Given the description of an element on the screen output the (x, y) to click on. 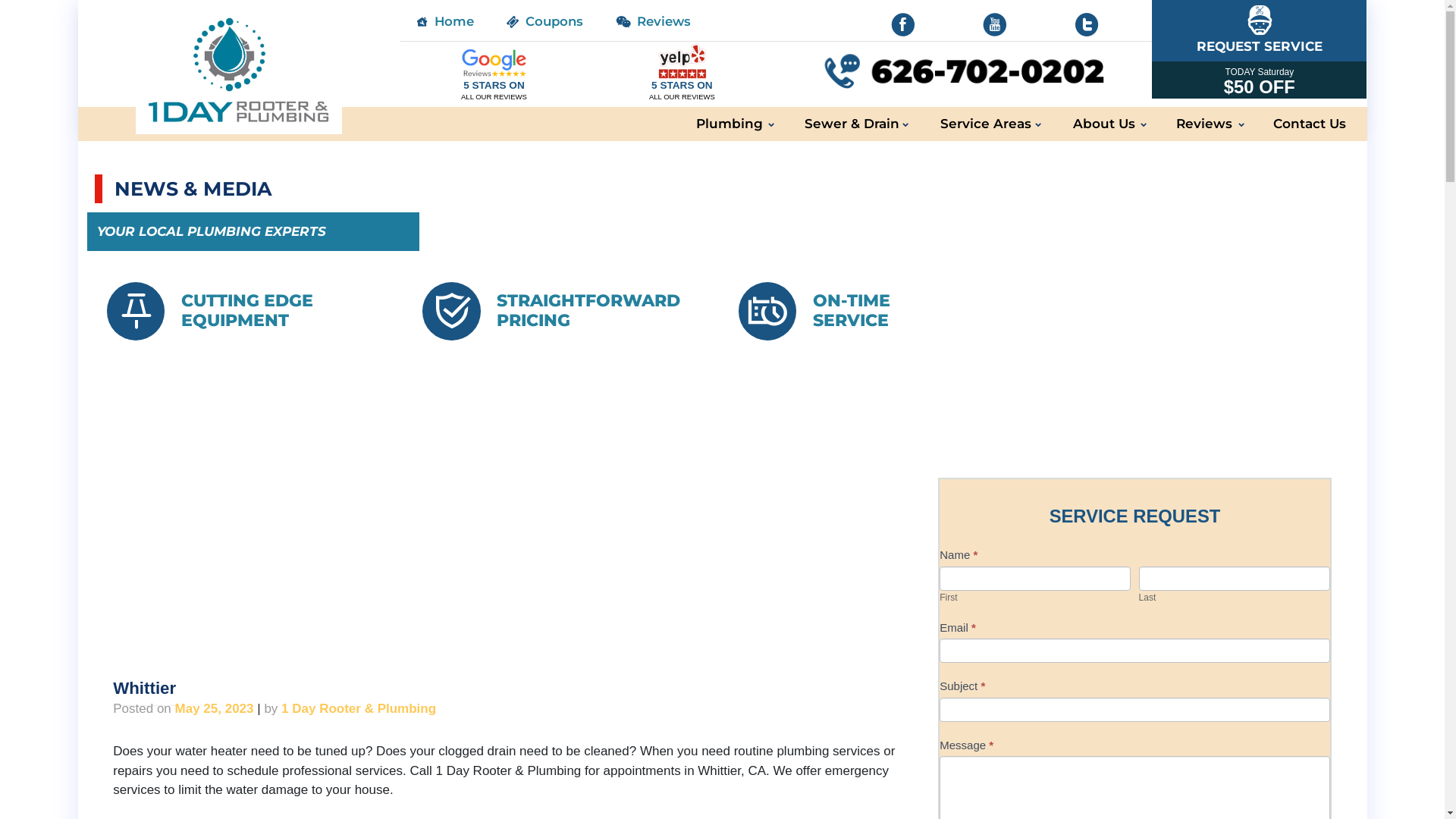
Sewer & Drain Element type: text (851, 123)
1 Day Rooter & Plumbing Element type: text (358, 708)
Reviews Element type: text (655, 21)
Reviews Element type: text (1203, 123)
Home Element type: text (446, 21)
May 25, 2023 Element type: text (214, 708)
Coupons Element type: text (546, 21)
About Us Element type: text (1102, 123)
Contact Us Element type: text (1309, 123)
5 STARS ON
ALL OUR REVIEWS Element type: text (681, 71)
REQUEST SERVICE Element type: text (1258, 30)
Plumbing Element type: text (729, 123)
Service Areas Element type: text (985, 123)
626-702-0202 Element type: text (963, 71)
5 STARS ON
ALL OUR REVIEWS Element type: text (494, 71)
